Given the description of an element on the screen output the (x, y) to click on. 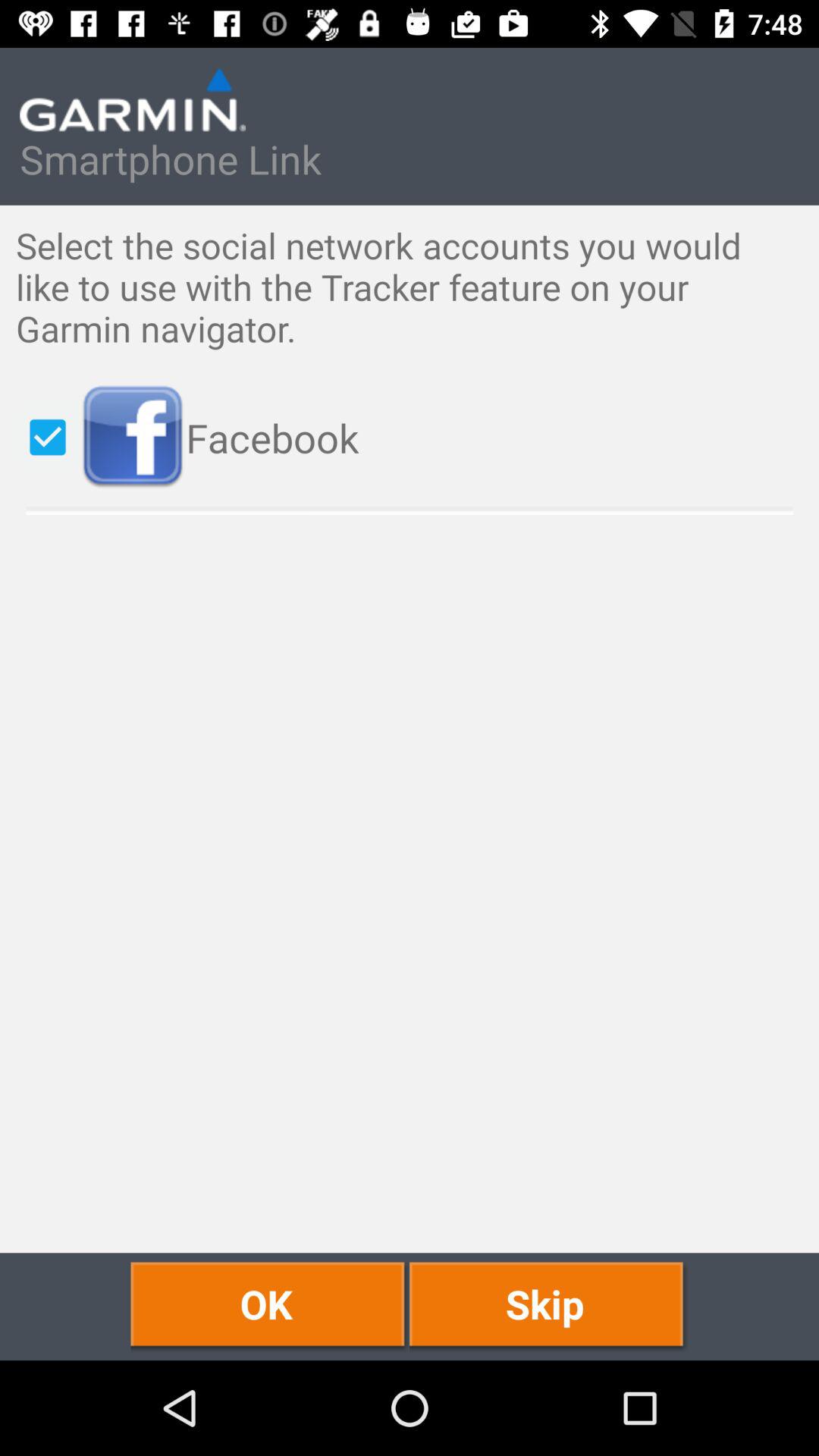
open icon to the right of the ok (548, 1306)
